Given the description of an element on the screen output the (x, y) to click on. 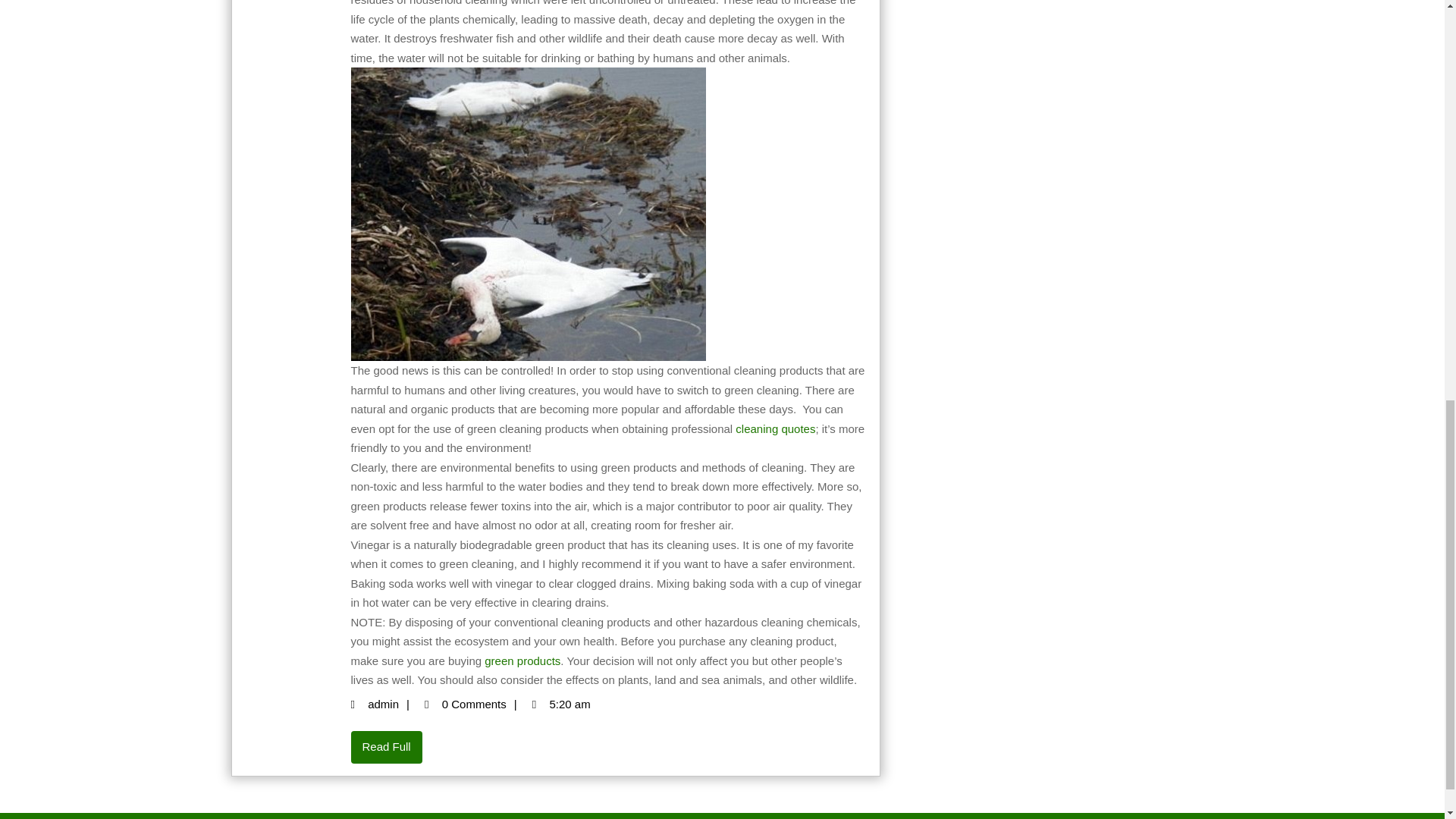
cleaning quotes (775, 428)
green products (393, 703)
